Given the description of an element on the screen output the (x, y) to click on. 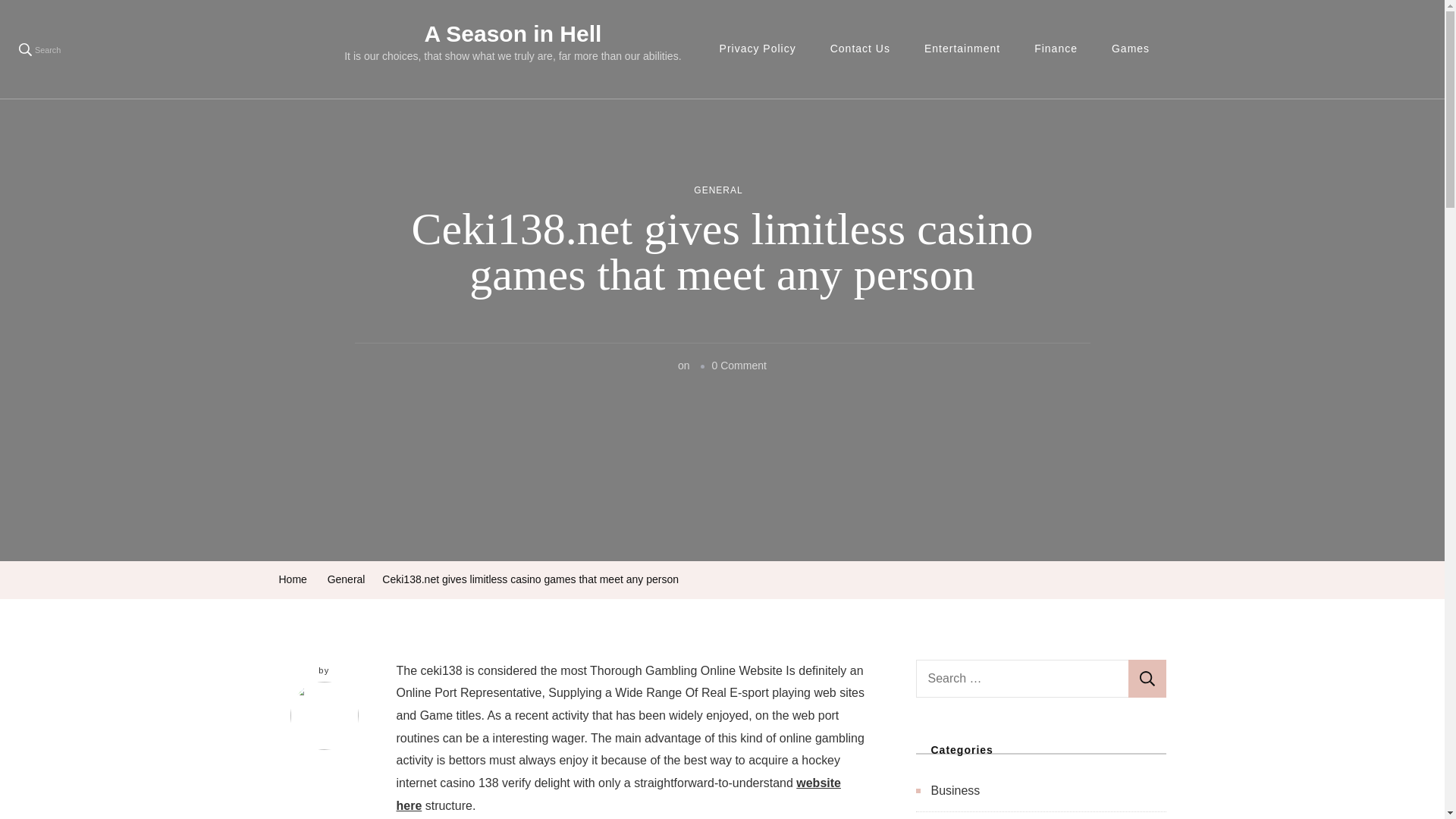
GENERAL (718, 191)
Search (1147, 678)
Games (1130, 49)
Home (293, 579)
Search (39, 48)
General (346, 579)
website here (618, 794)
Privacy Policy (757, 49)
A Season in Hell (512, 33)
Entertainment (961, 49)
Search (1147, 678)
Contact Us (860, 49)
Finance (1056, 49)
